Given the description of an element on the screen output the (x, y) to click on. 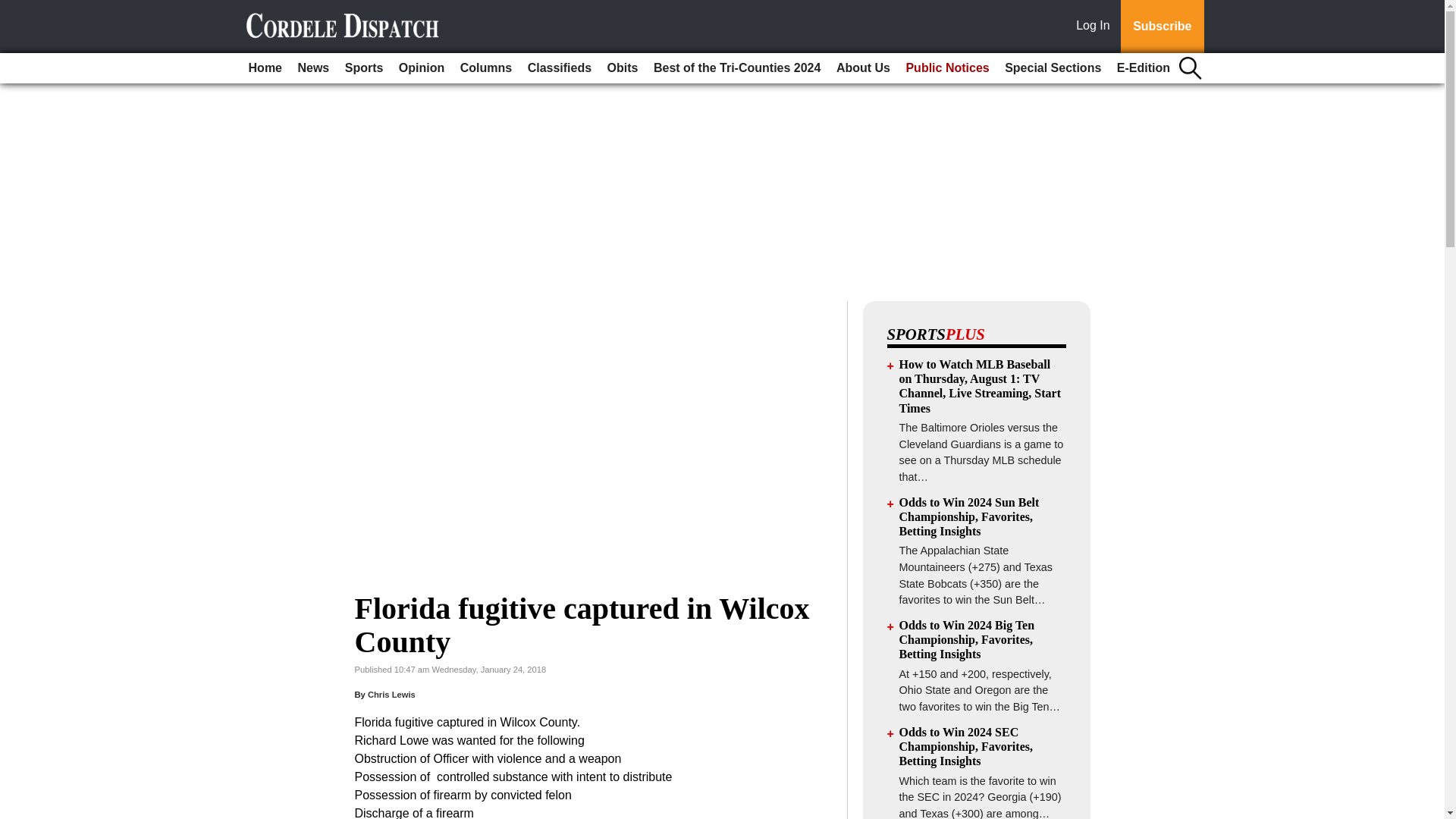
News (312, 68)
Public Notices (946, 68)
Sports (364, 68)
Subscribe (1162, 26)
E-Edition (1143, 68)
Chris Lewis (391, 694)
Special Sections (1052, 68)
Classifieds (558, 68)
Opinion (421, 68)
Go (13, 9)
About Us (862, 68)
